Given the description of an element on the screen output the (x, y) to click on. 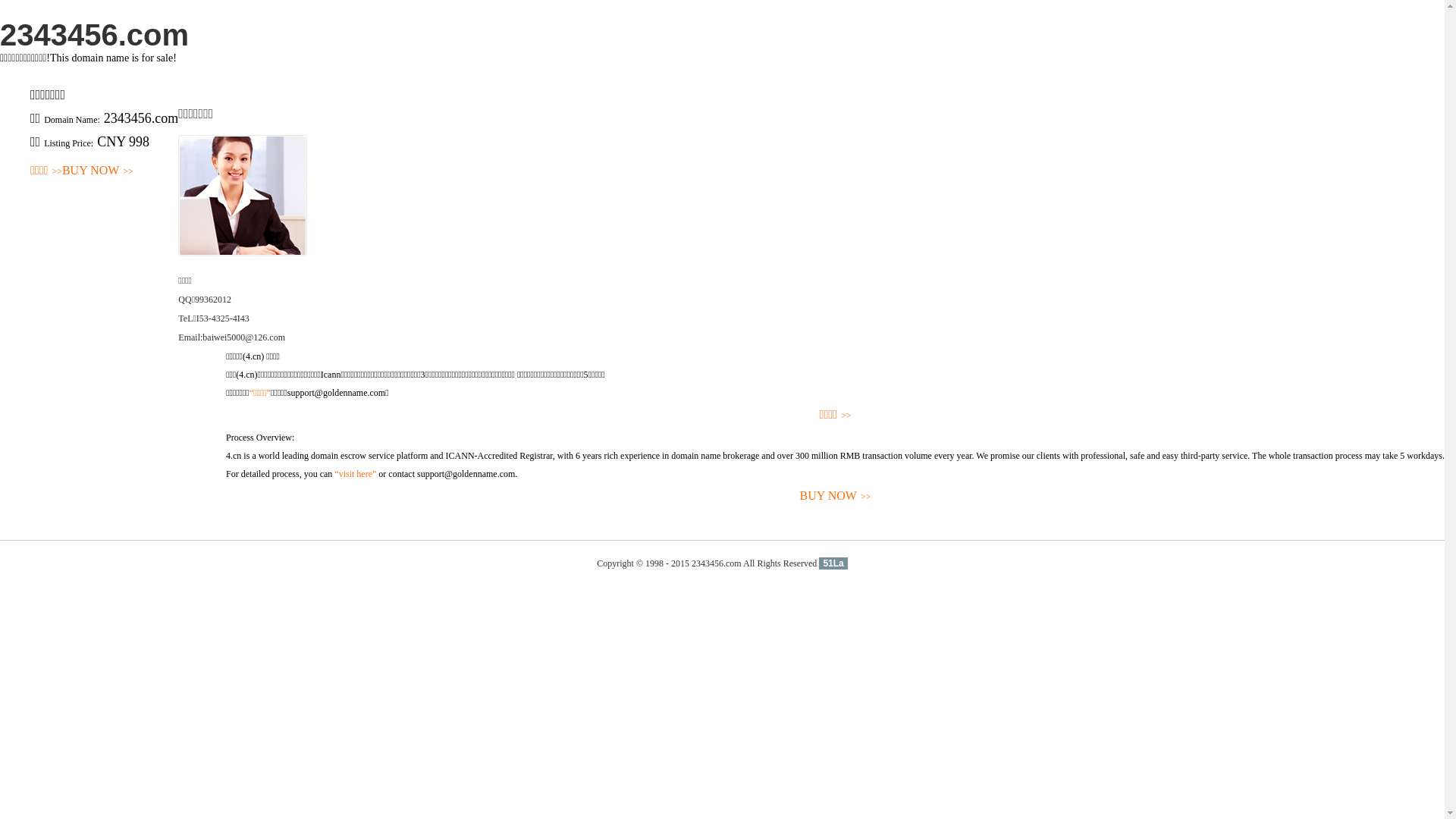
51La Element type: text (833, 563)
BUY NOW>> Element type: text (97, 170)
BUY NOW>> Element type: text (834, 496)
